Given the description of an element on the screen output the (x, y) to click on. 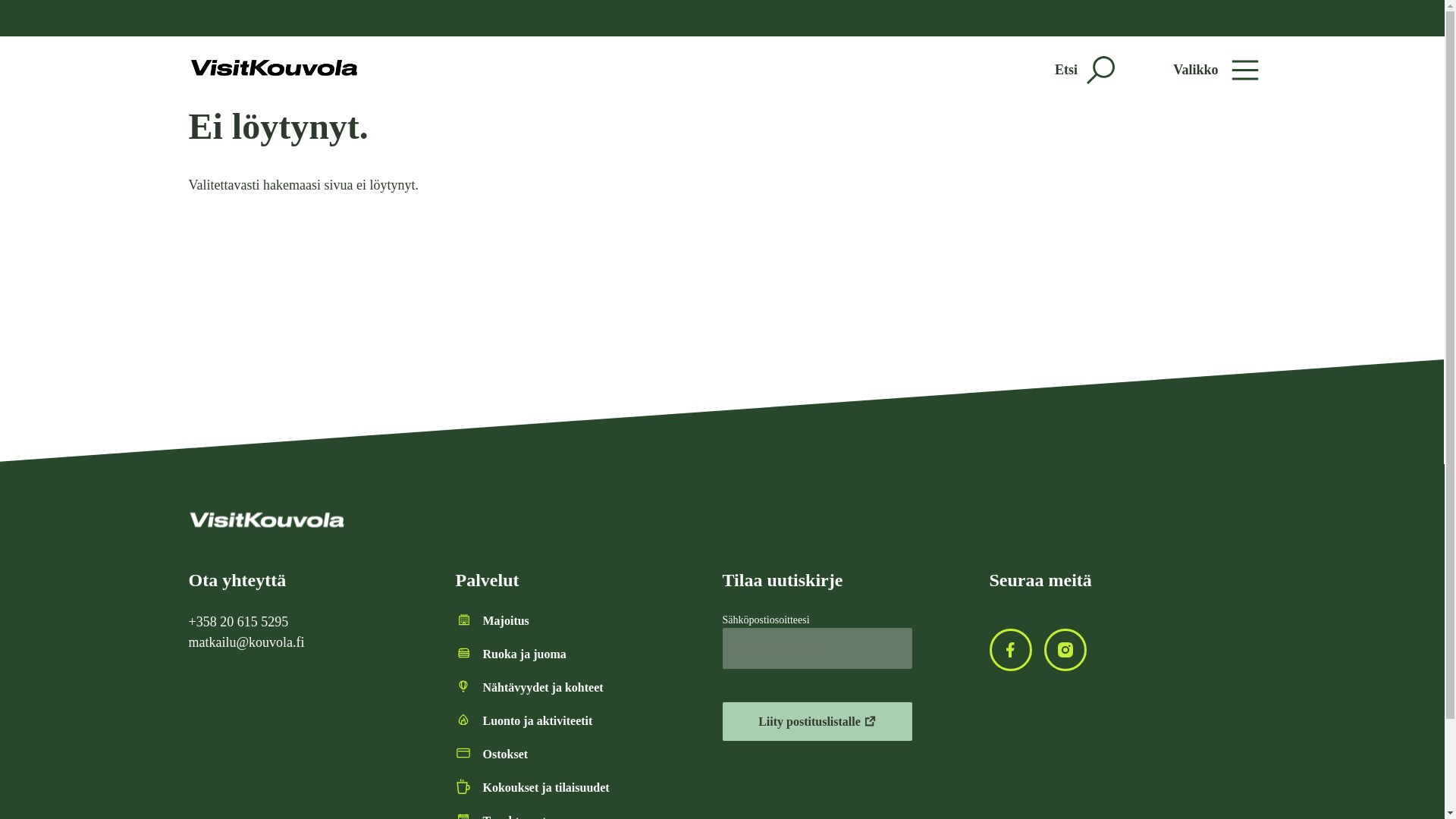
Luonto ja aktiviteetit (536, 720)
Liity postituslistalle (816, 721)
Tapahtumat (513, 815)
Majoitus (504, 620)
Kokoukset ja tilaisuudet (544, 787)
Etsi (1084, 70)
Ostokset (504, 754)
Ruoka ja juoma (523, 654)
Valikko (1215, 69)
